Given the description of an element on the screen output the (x, y) to click on. 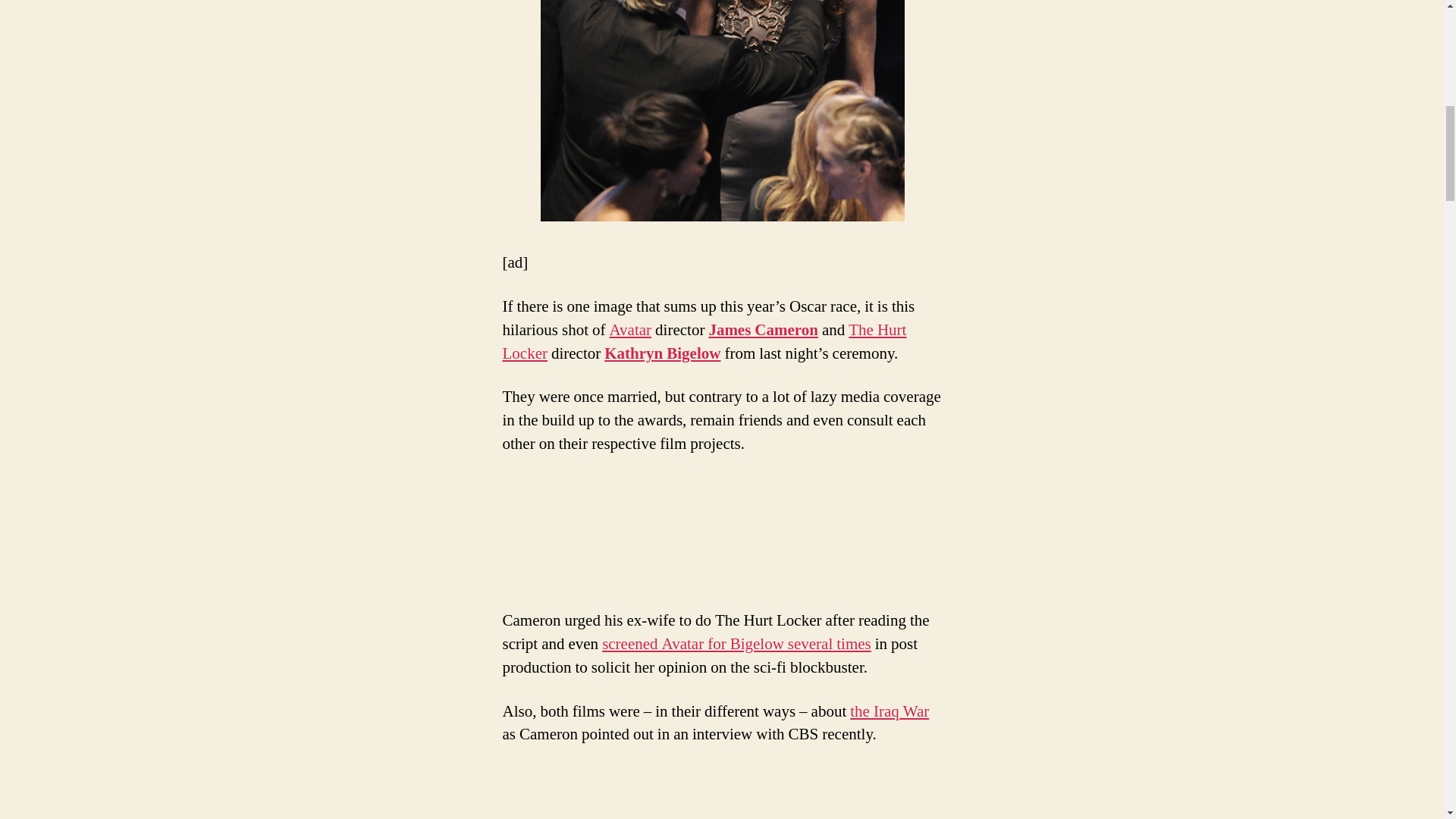
screened Avatar for Bigelow several times (736, 643)
James Cameron (762, 330)
Kathryn Bigelow (662, 353)
the Iraq War (889, 711)
James Cameron vs Kathryn Bigelow (722, 110)
The Hurt Locker (703, 341)
Avatar (631, 330)
